Given the description of an element on the screen output the (x, y) to click on. 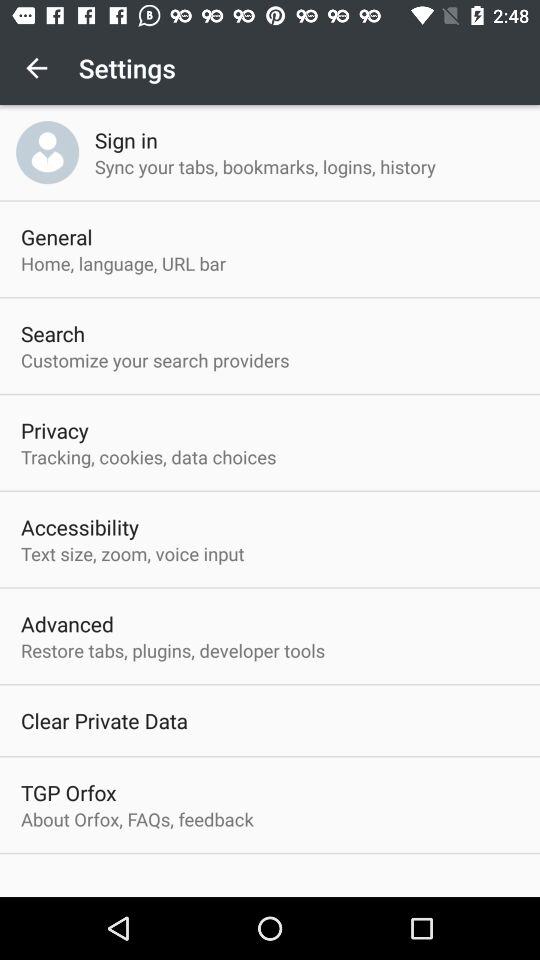
turn on the icon below the general item (123, 263)
